Given the description of an element on the screen output the (x, y) to click on. 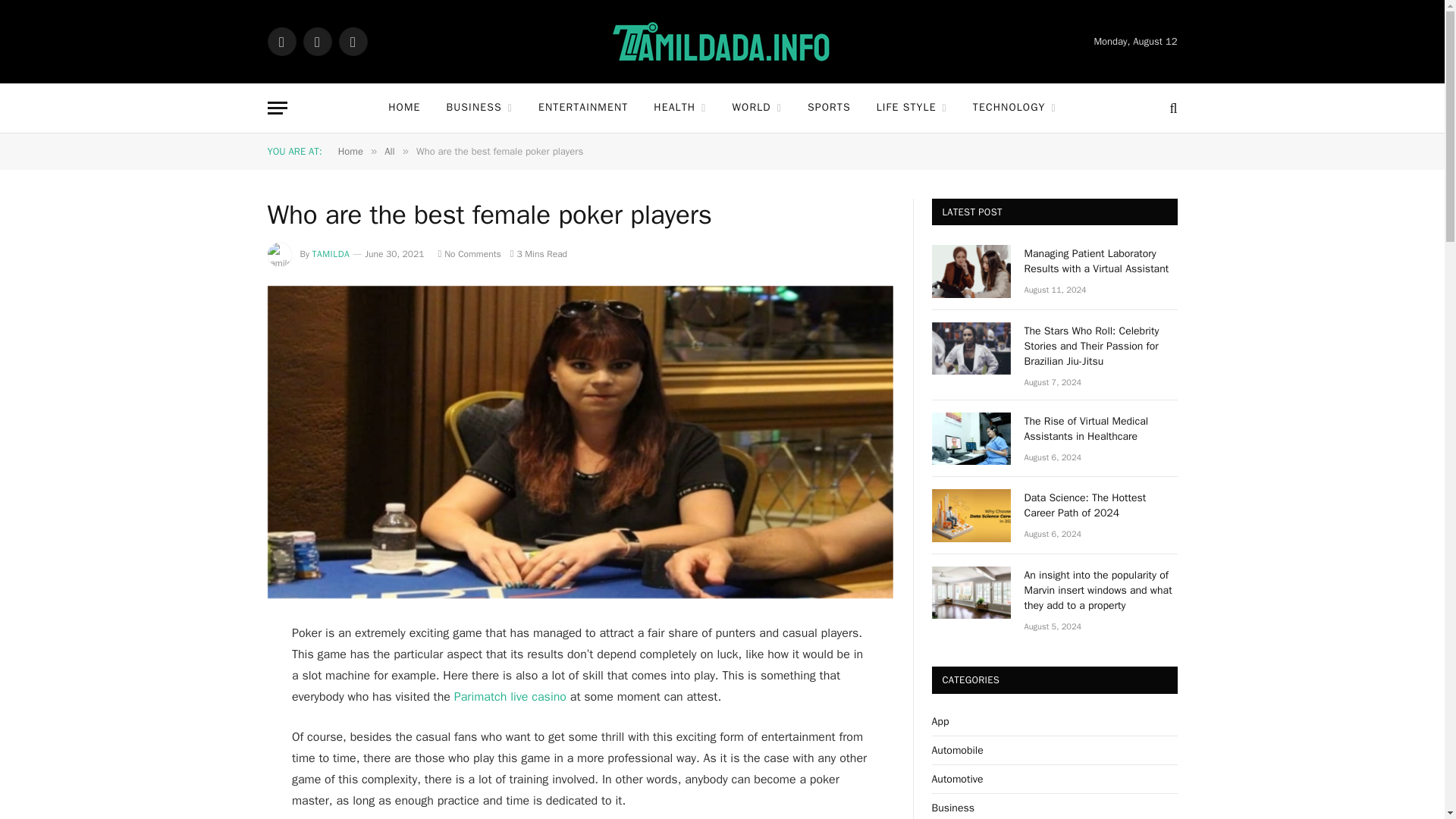
Instagram (351, 41)
SPORTS (828, 107)
TAMILDA (331, 254)
LIFE STYLE (911, 107)
Posts by tamilda (331, 254)
ENTERTAINMENT (582, 107)
Home (349, 151)
Twitter (316, 41)
HOME (403, 107)
